Given the description of an element on the screen output the (x, y) to click on. 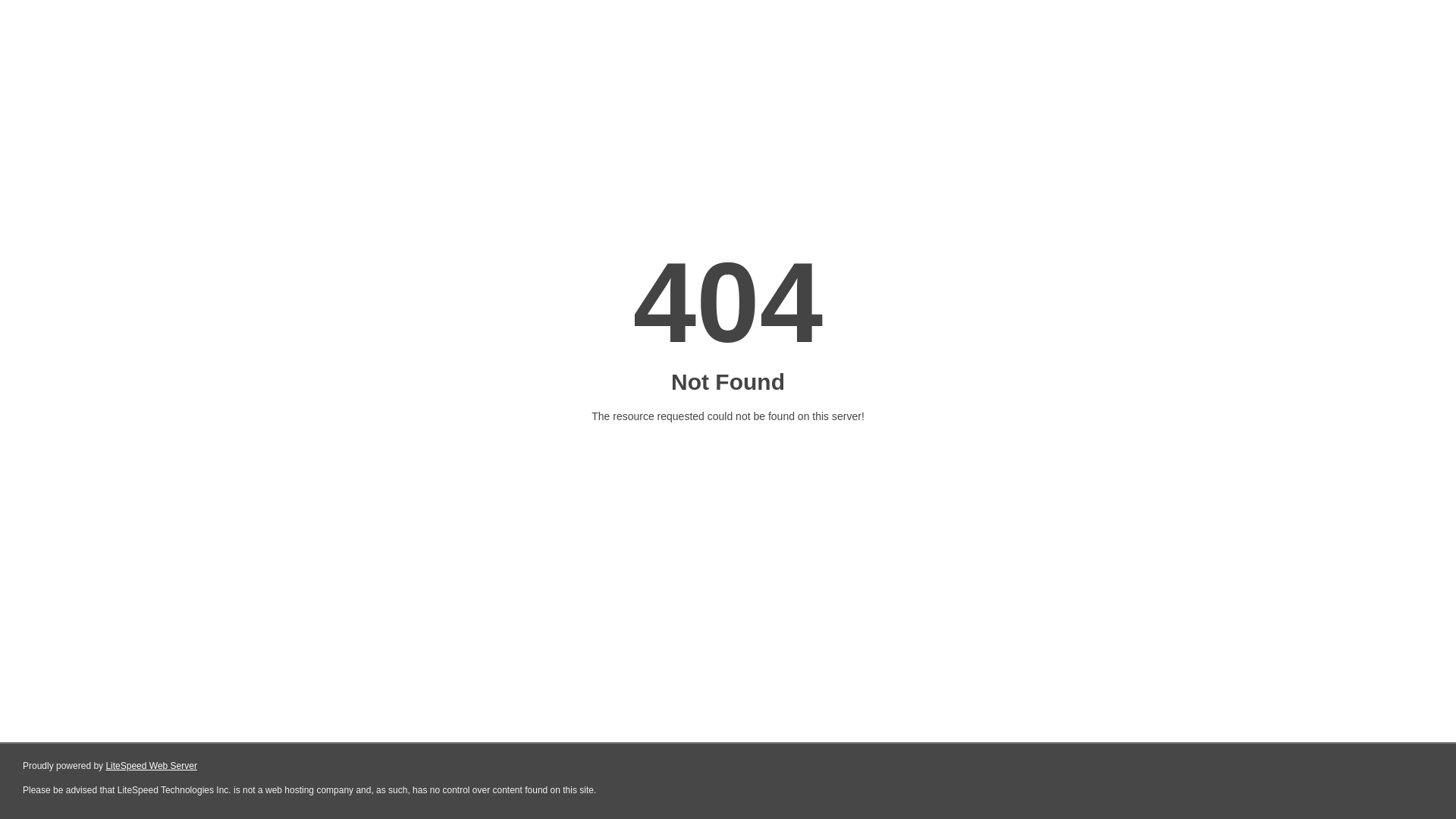
LiteSpeed Web Server Element type: text (151, 765)
